Given the description of an element on the screen output the (x, y) to click on. 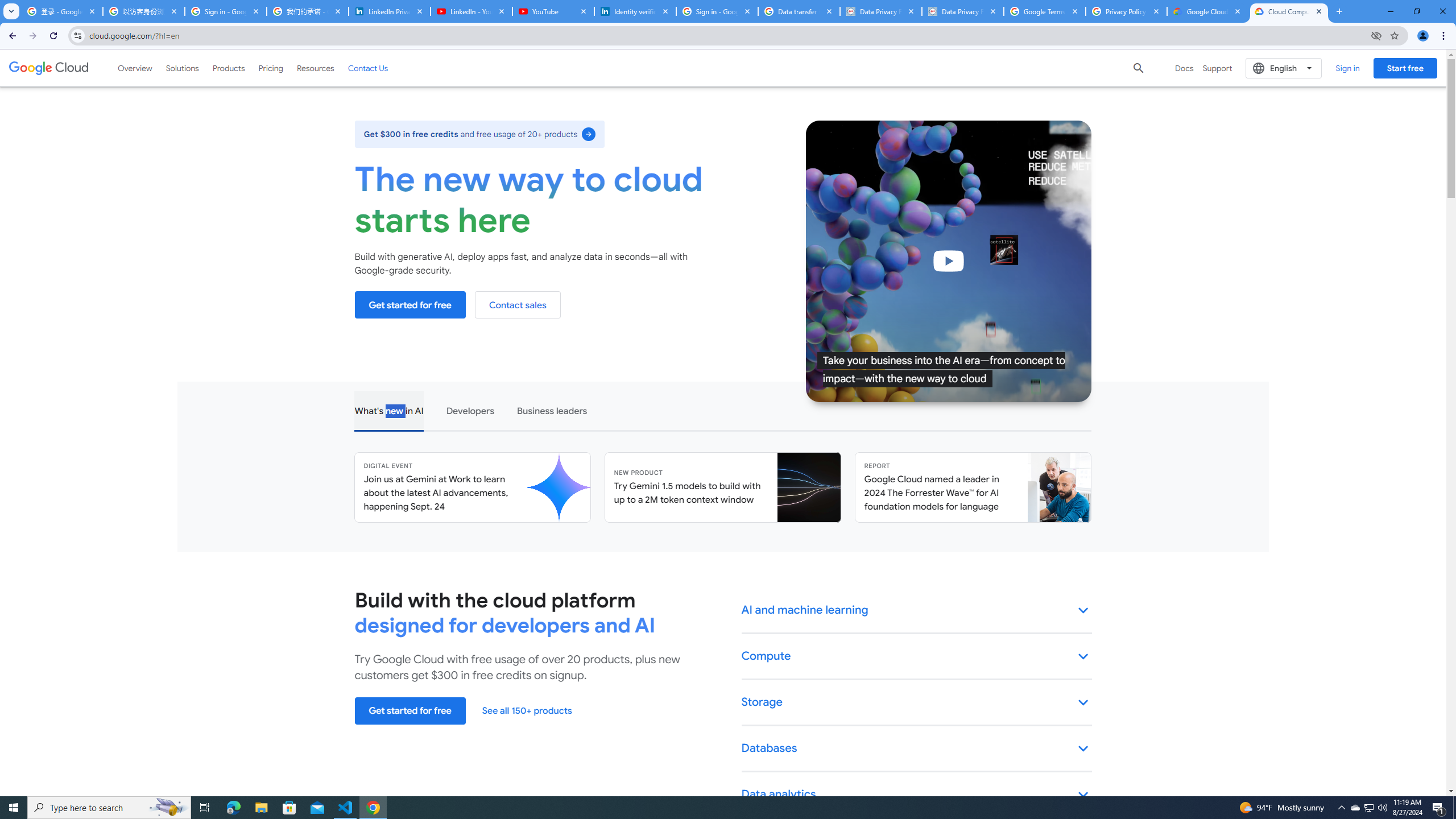
YouTube (552, 11)
Get $300 in free credits and free usage of 20+ products (479, 134)
See all 150+ products (526, 710)
Sign in - Google Accounts (716, 11)
Data Privacy Framework (963, 11)
Cloud Computing Services | Google Cloud (1289, 11)
Databases keyboard_arrow_down (916, 748)
Sign in - Google Accounts (225, 11)
